Given the description of an element on the screen output the (x, y) to click on. 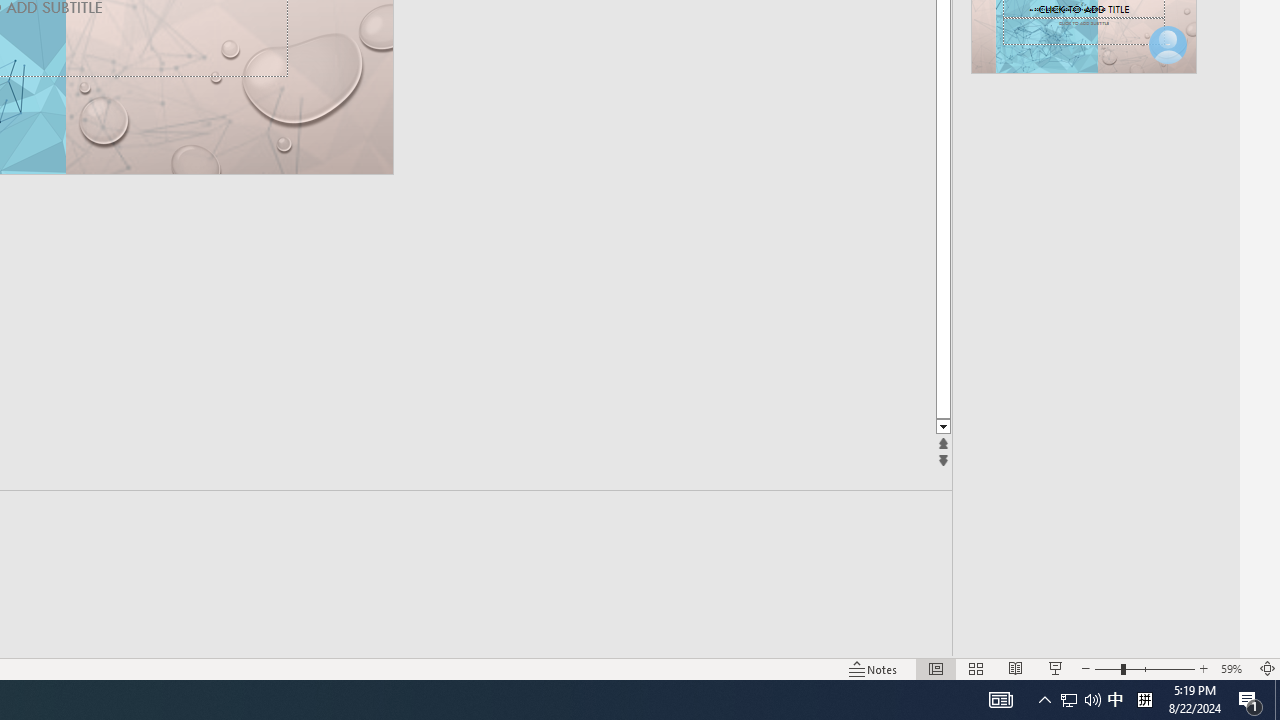
Zoom 59% (1234, 668)
